Given the description of an element on the screen output the (x, y) to click on. 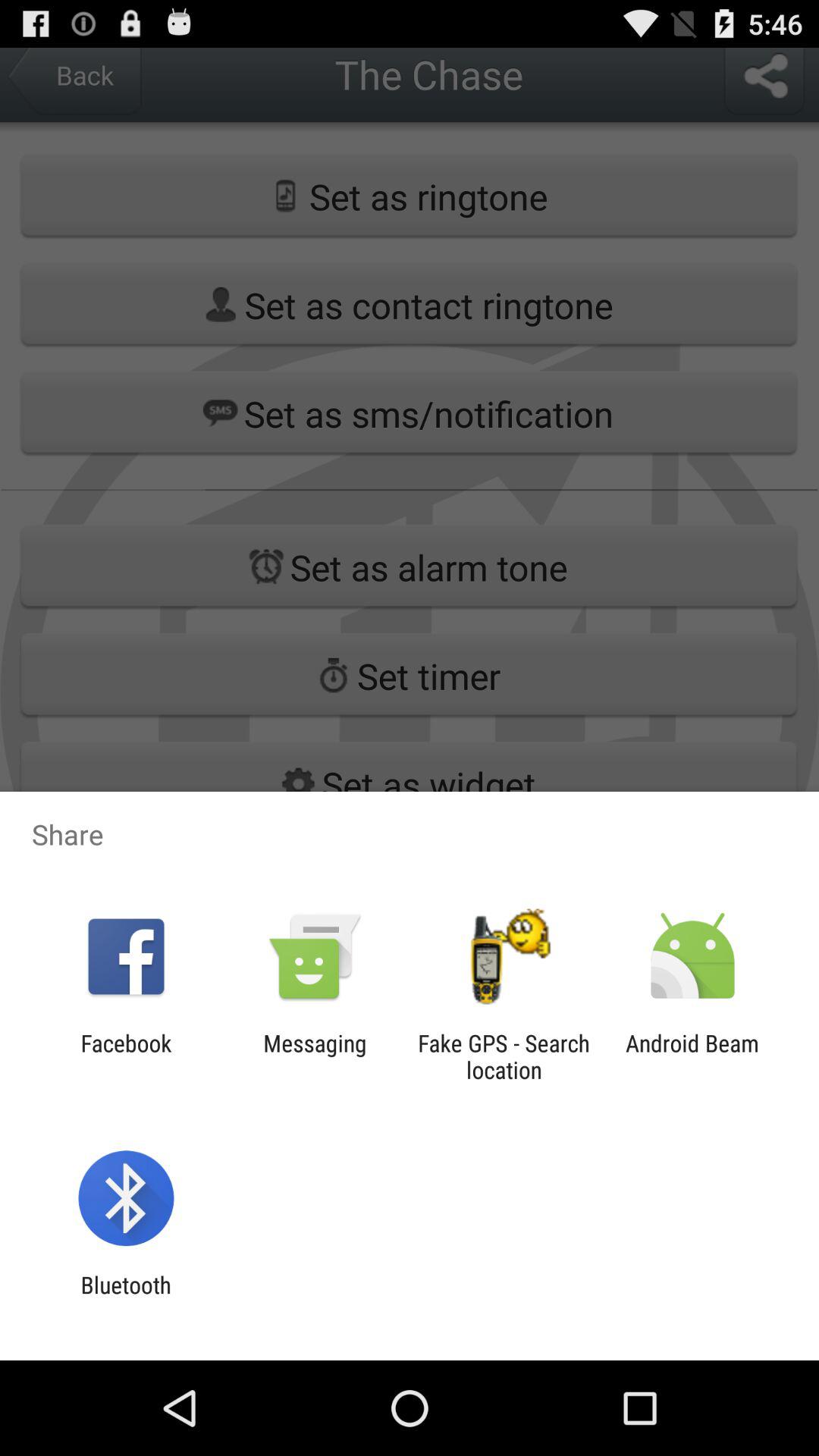
jump until the bluetooth item (125, 1298)
